Given the description of an element on the screen output the (x, y) to click on. 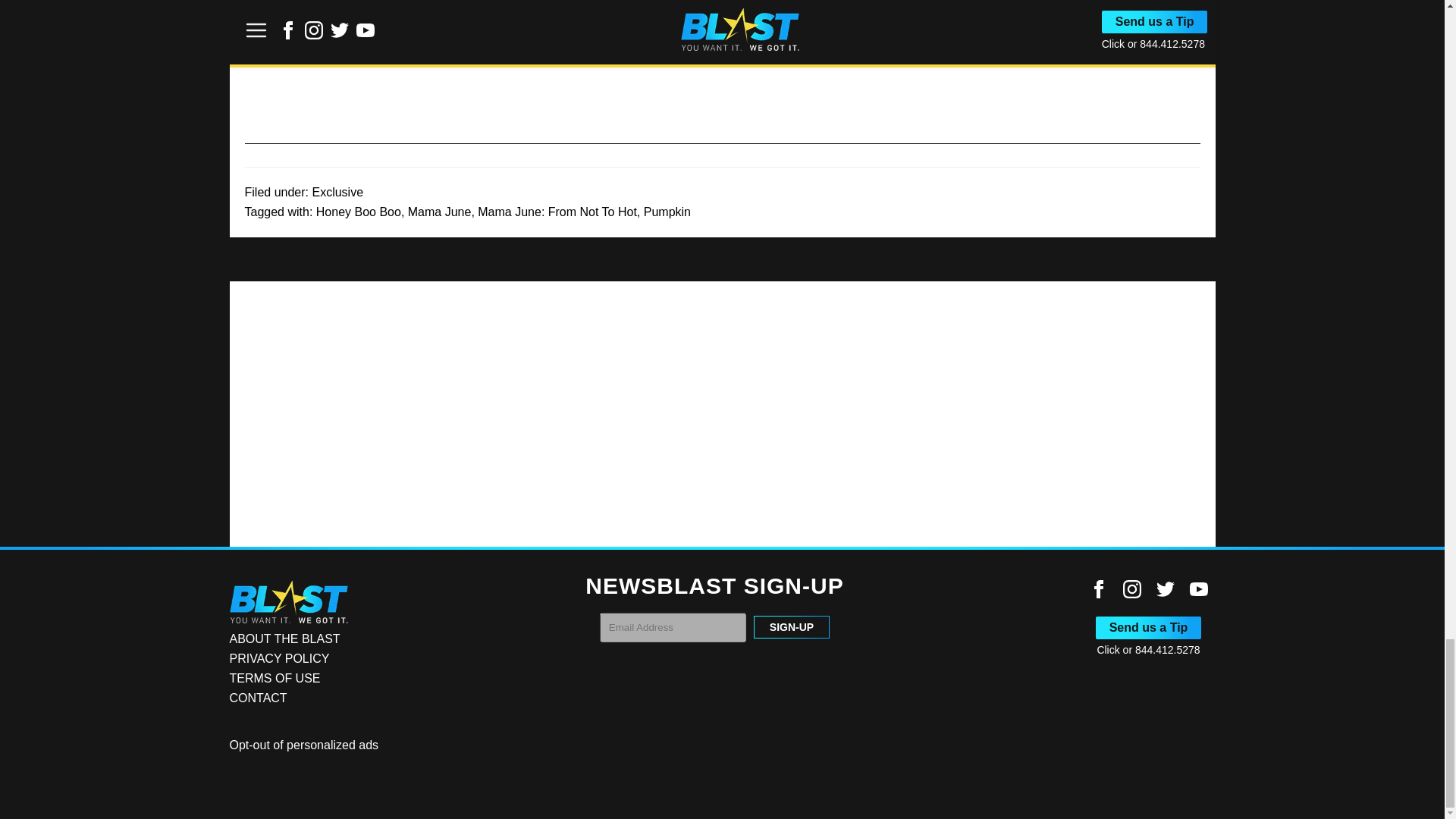
Exclusive (336, 192)
SIGN-UP (791, 626)
Honey Boo Boo (358, 211)
Link to Twitter (1164, 588)
TERMS OF USE (274, 677)
Link to Instagram (1131, 588)
Mama June: From Not To Hot (557, 211)
Link to Youtube (1198, 588)
PRIVACY POLICY (278, 658)
Mama June (439, 211)
